Given the description of an element on the screen output the (x, y) to click on. 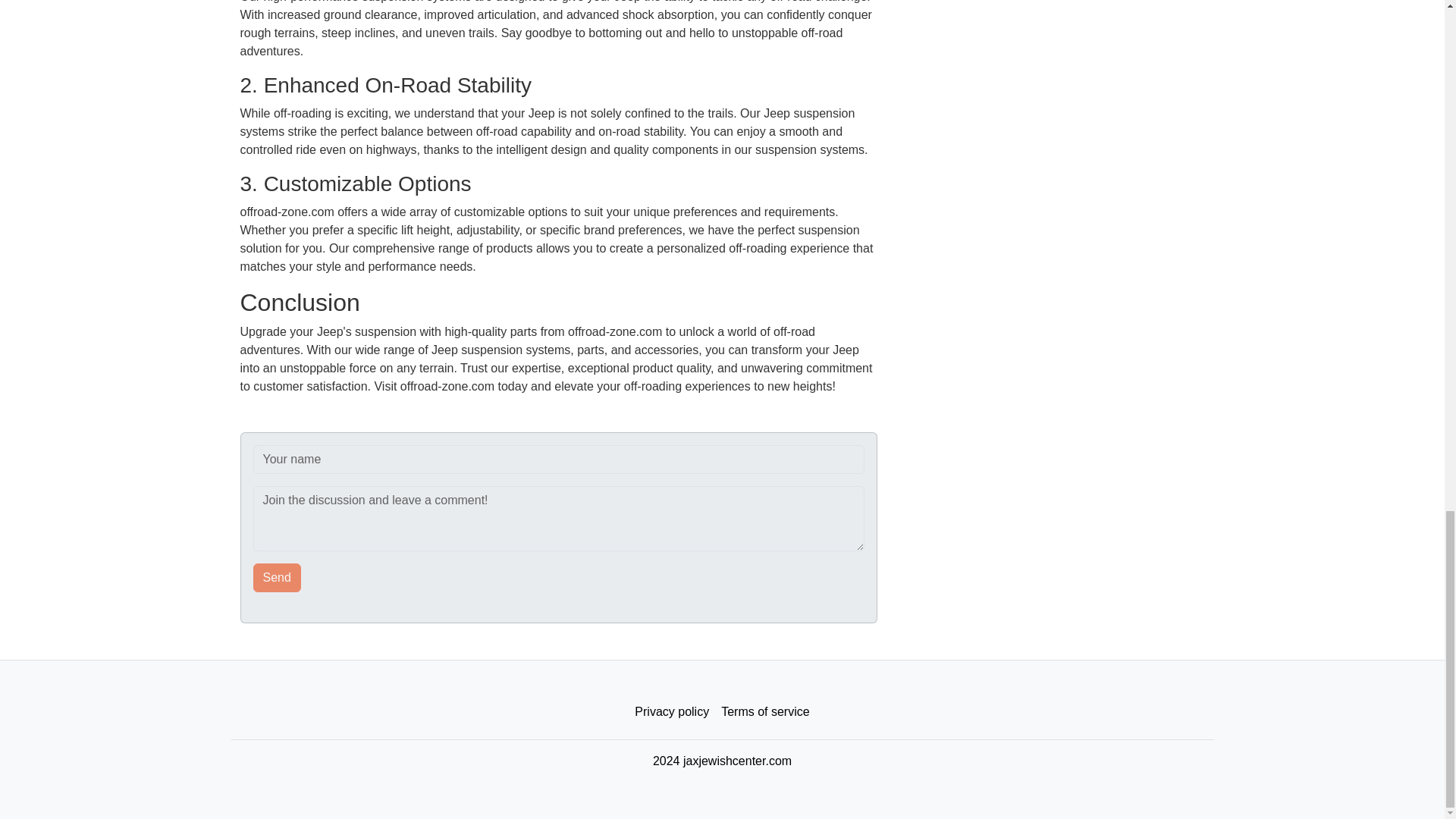
Send (277, 577)
Send (277, 577)
